Given the description of an element on the screen output the (x, y) to click on. 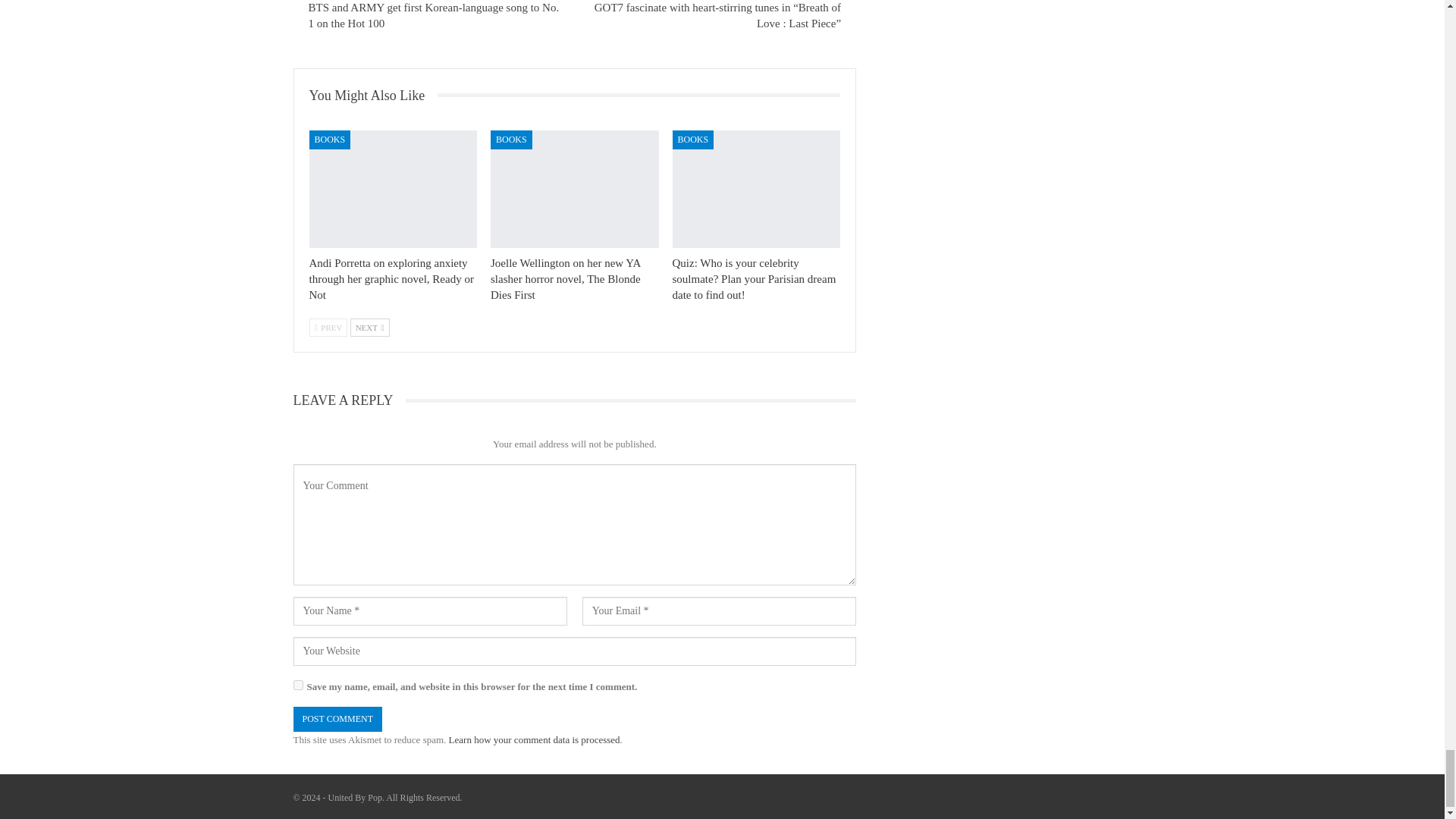
Post Comment (336, 719)
yes (297, 685)
